Given the description of an element on the screen output the (x, y) to click on. 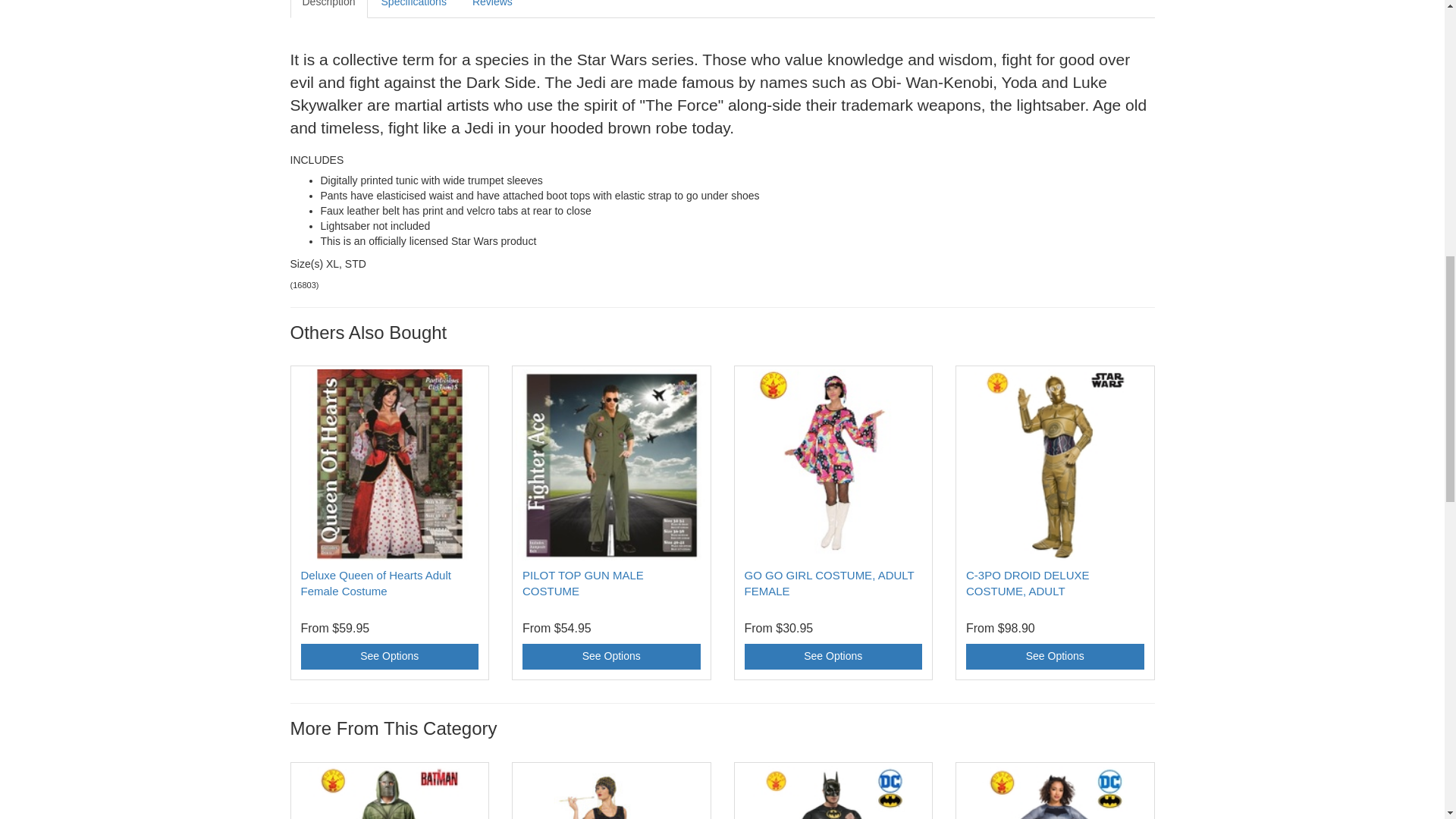
Deluxe Queen of Hearts Adult Female Costume (374, 582)
Buying Options (389, 656)
C-3PO DROID DELUXE COSTUME, ADULT (1027, 582)
Buying Options (833, 656)
Buying Options (611, 656)
GO GO GIRL COSTUME, ADULT FEMALE (829, 582)
Buying Options (1055, 656)
PILOT TOP GUN MALE COSTUME (582, 582)
